Given the description of an element on the screen output the (x, y) to click on. 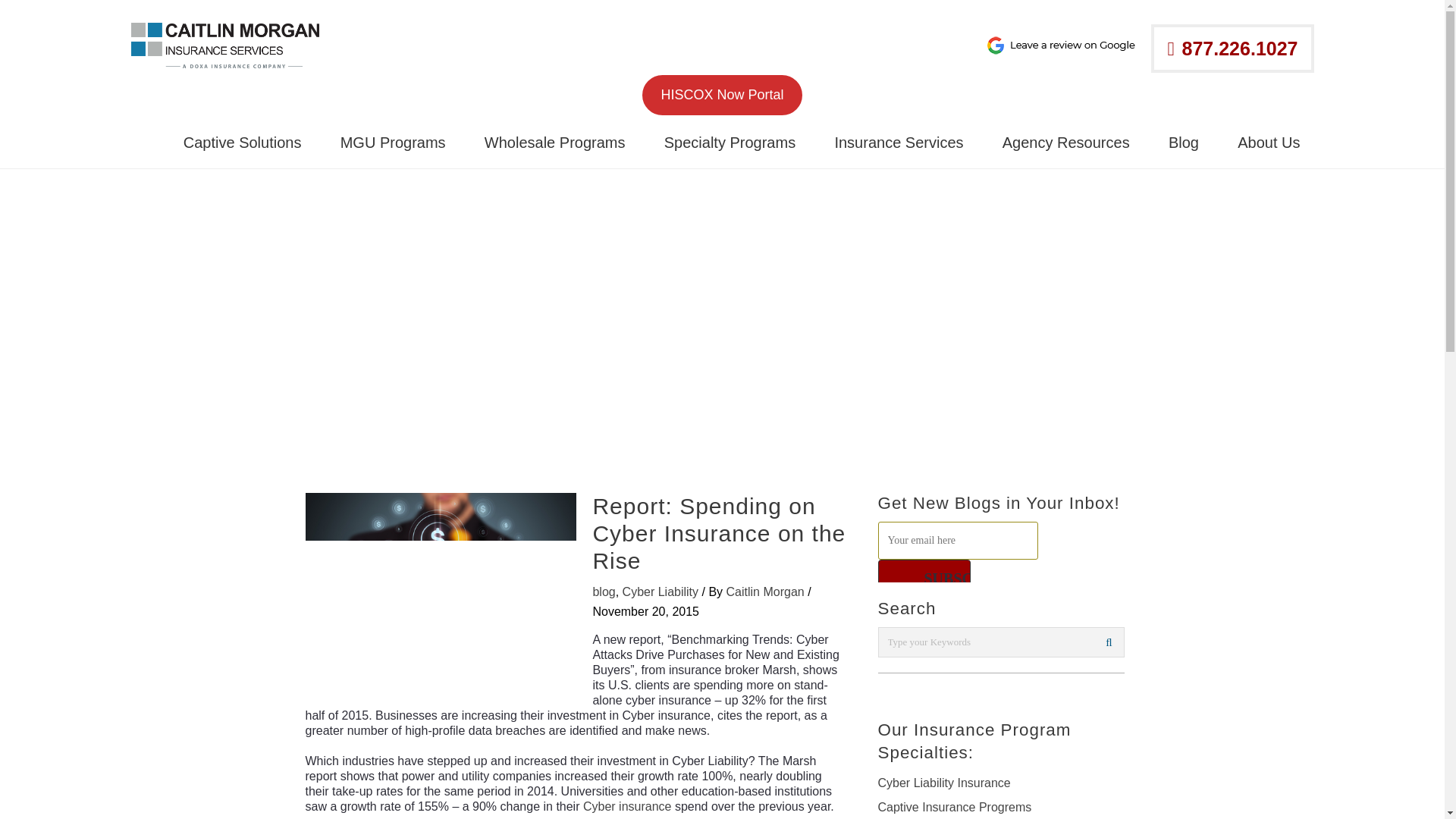
View all posts by Caitlin Morgan (767, 591)
Search (1108, 642)
Wholesale Programs (554, 142)
Subscribe (924, 578)
877.226.1027 (1232, 48)
Specialty Programs (729, 142)
Insurance Services (898, 142)
Captive Solutions (242, 142)
MGU Programs (393, 142)
HISCOX Now Portal (721, 95)
